Given the description of an element on the screen output the (x, y) to click on. 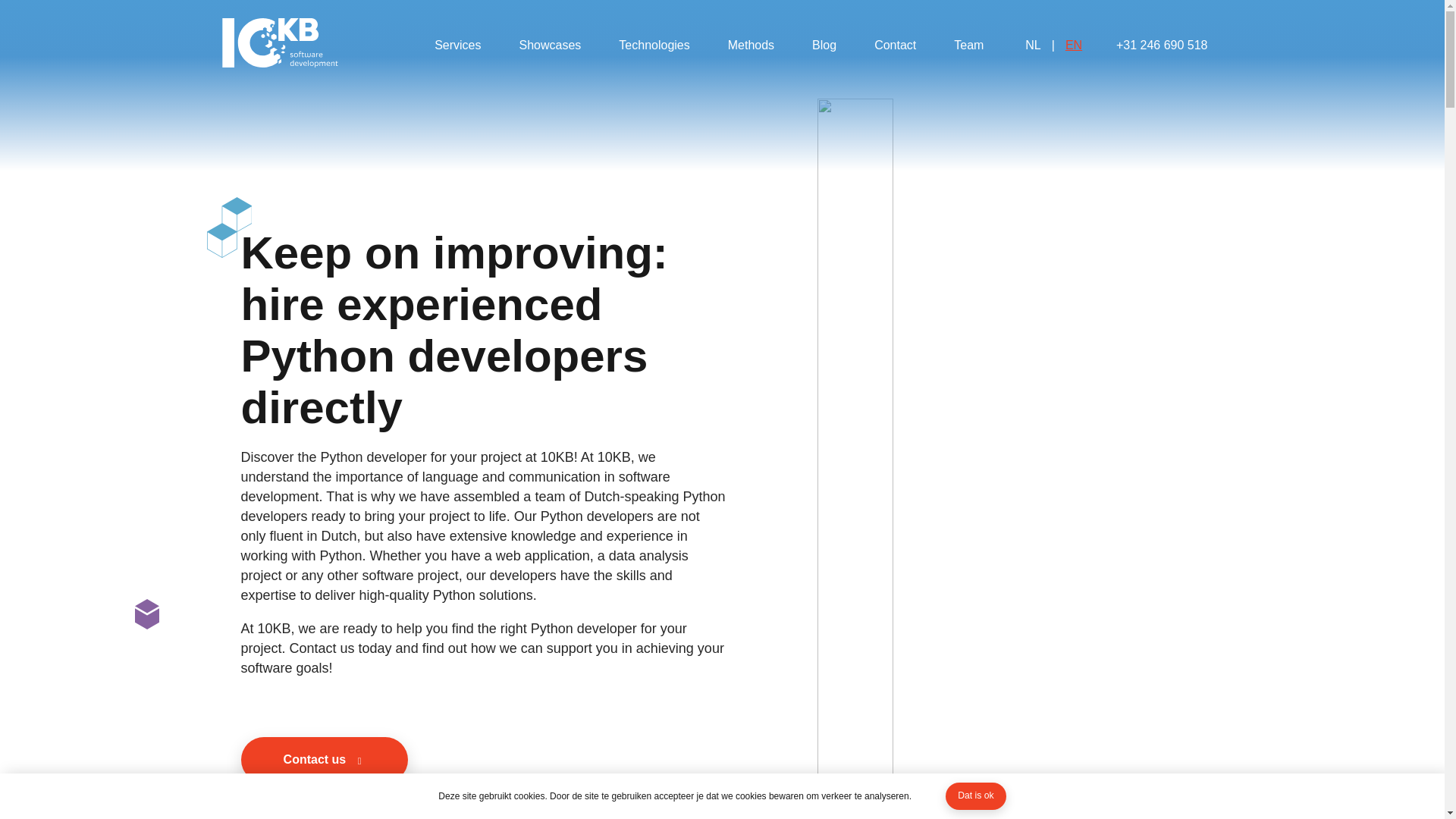
Blog (823, 44)
Our portfolio - Projects that make us proud (549, 44)
Our team (968, 44)
Showcases (549, 44)
Contact - Call us for an appointment! (895, 44)
10KB Software development Nijmegen (279, 45)
Our methods - How we like to work (751, 44)
Technologies (654, 44)
Methods (751, 44)
Contact us (324, 759)
Services (457, 44)
Team (968, 44)
Blog (823, 44)
Nederlandstalige Python developers voor jouw project (1053, 44)
Contact (895, 44)
